Given the description of an element on the screen output the (x, y) to click on. 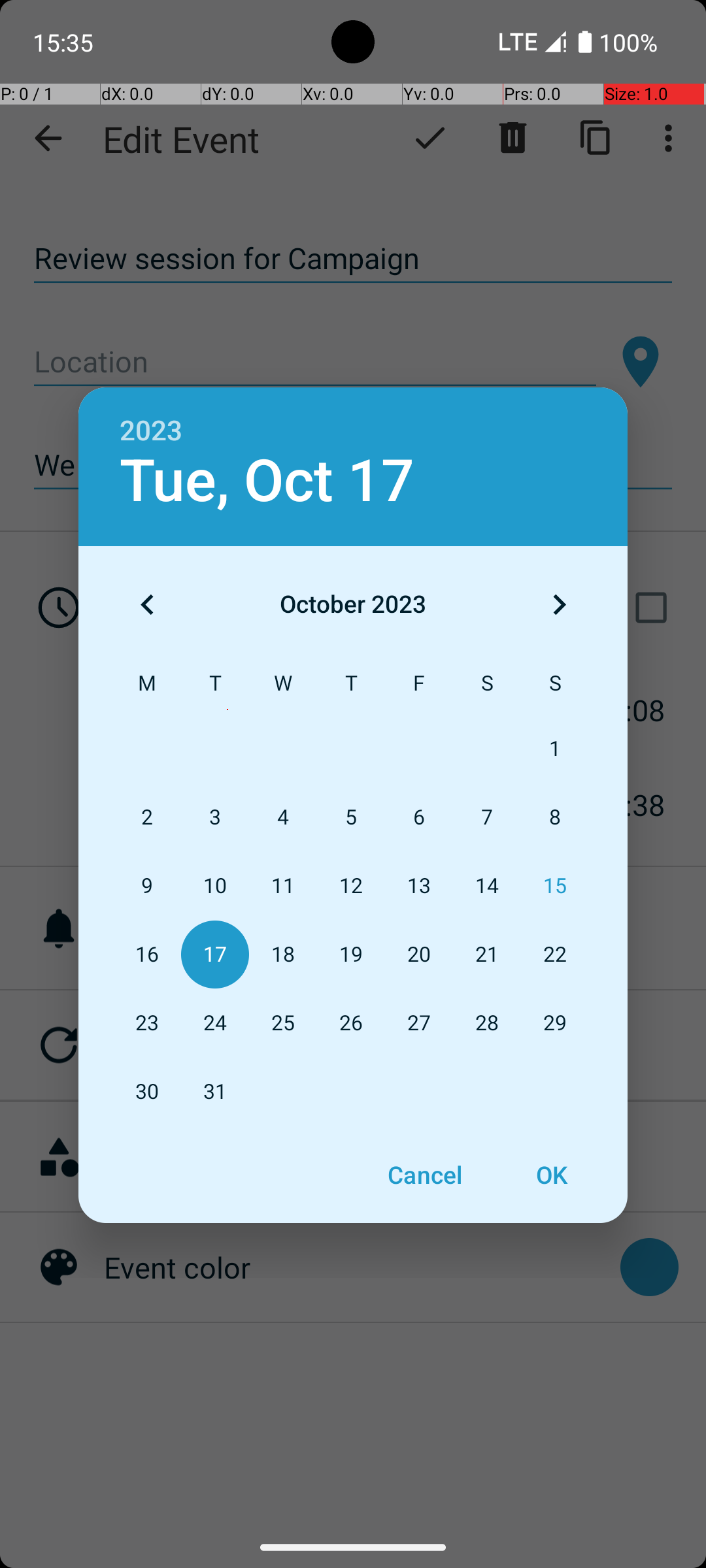
Tue, Oct 17 Element type: android.widget.TextView (267, 480)
